Given the description of an element on the screen output the (x, y) to click on. 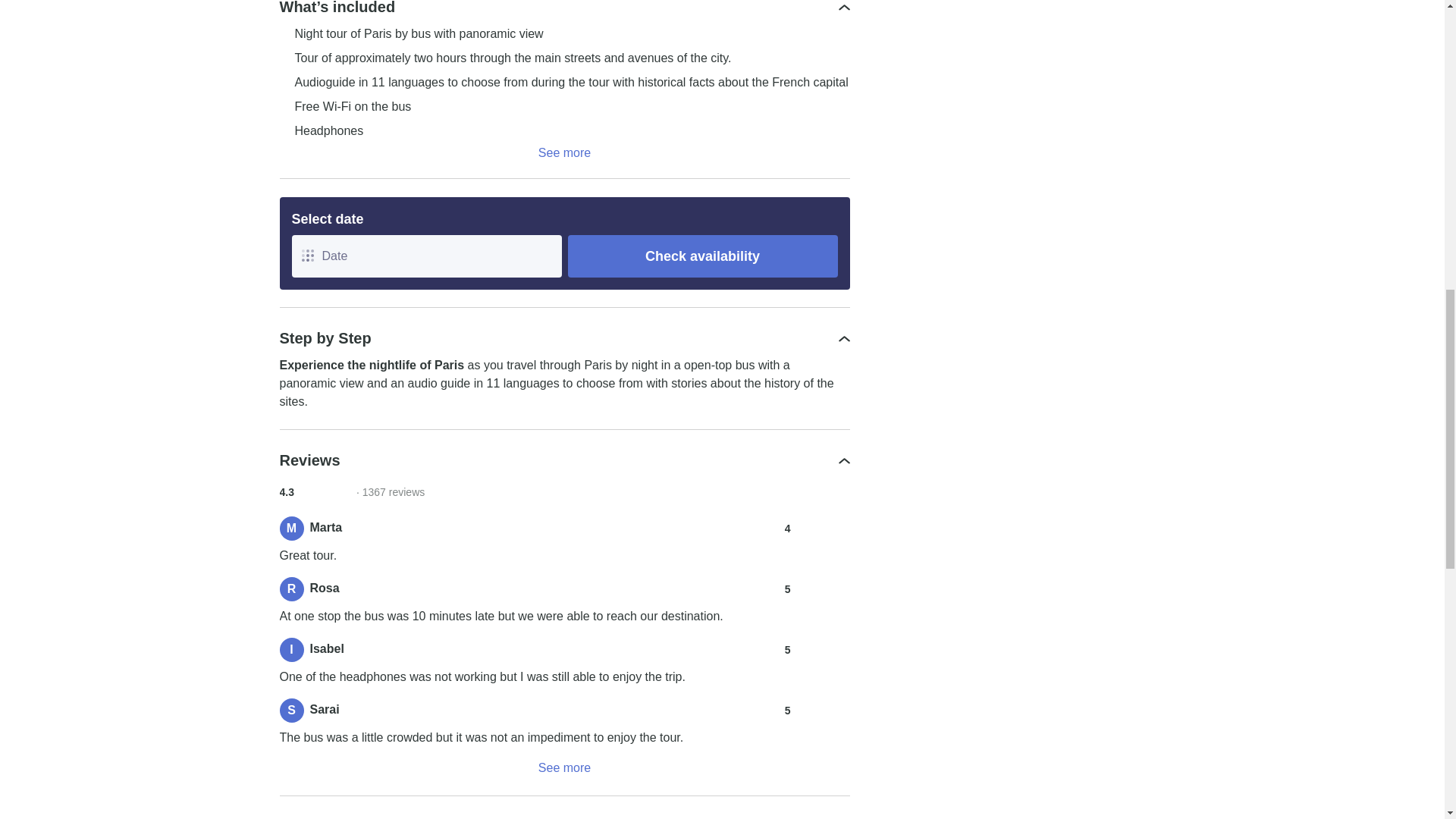
See more (563, 152)
Check availability (702, 256)
See more (563, 768)
